Given the description of an element on the screen output the (x, y) to click on. 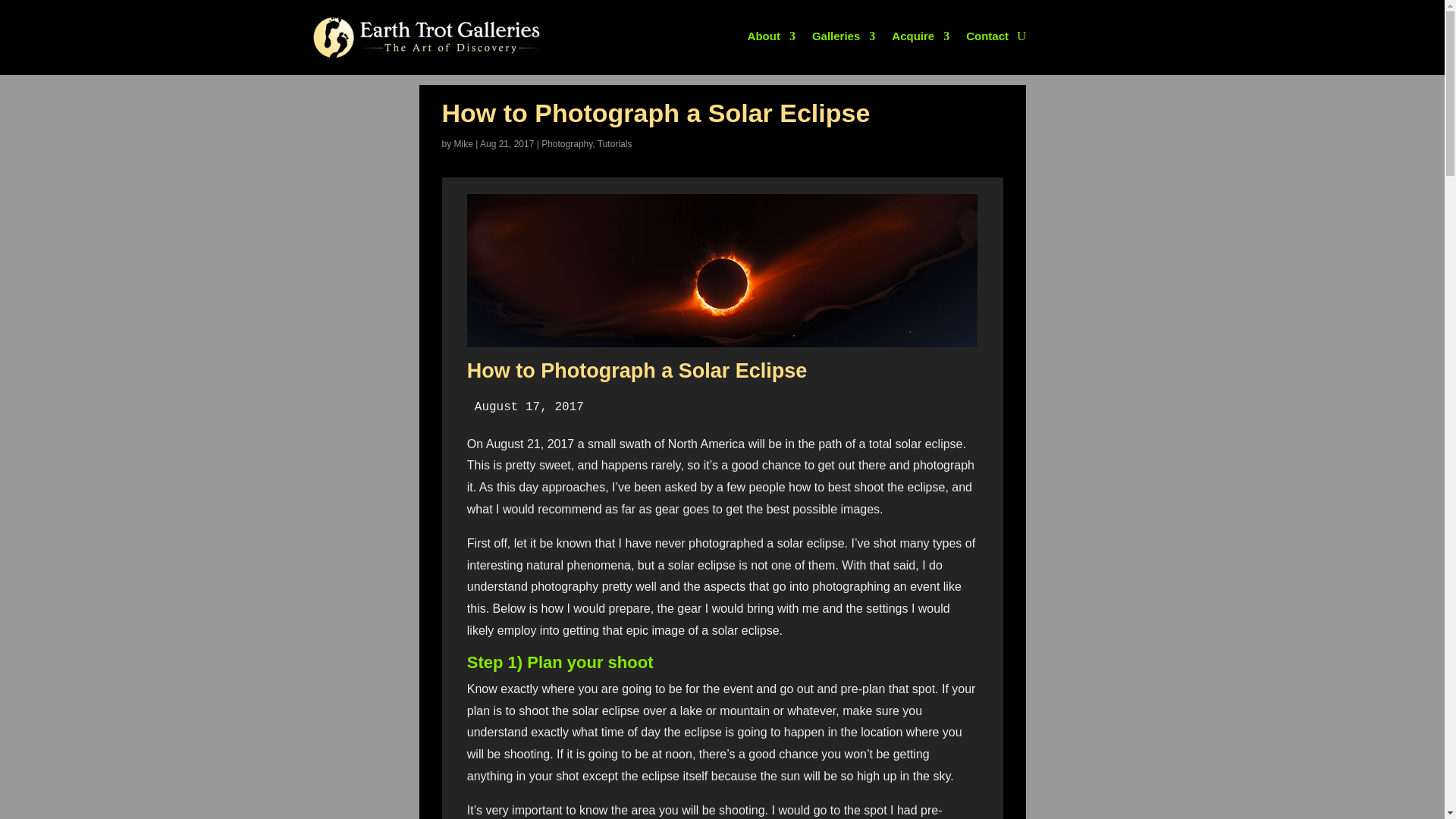
About (771, 39)
Solar Eclipse (721, 270)
Logo (426, 37)
Photography (566, 143)
Acquire (920, 39)
Galleries (843, 39)
Posts by Mike (463, 143)
Contact (987, 39)
Tutorials (613, 143)
Mike (463, 143)
